Given the description of an element on the screen output the (x, y) to click on. 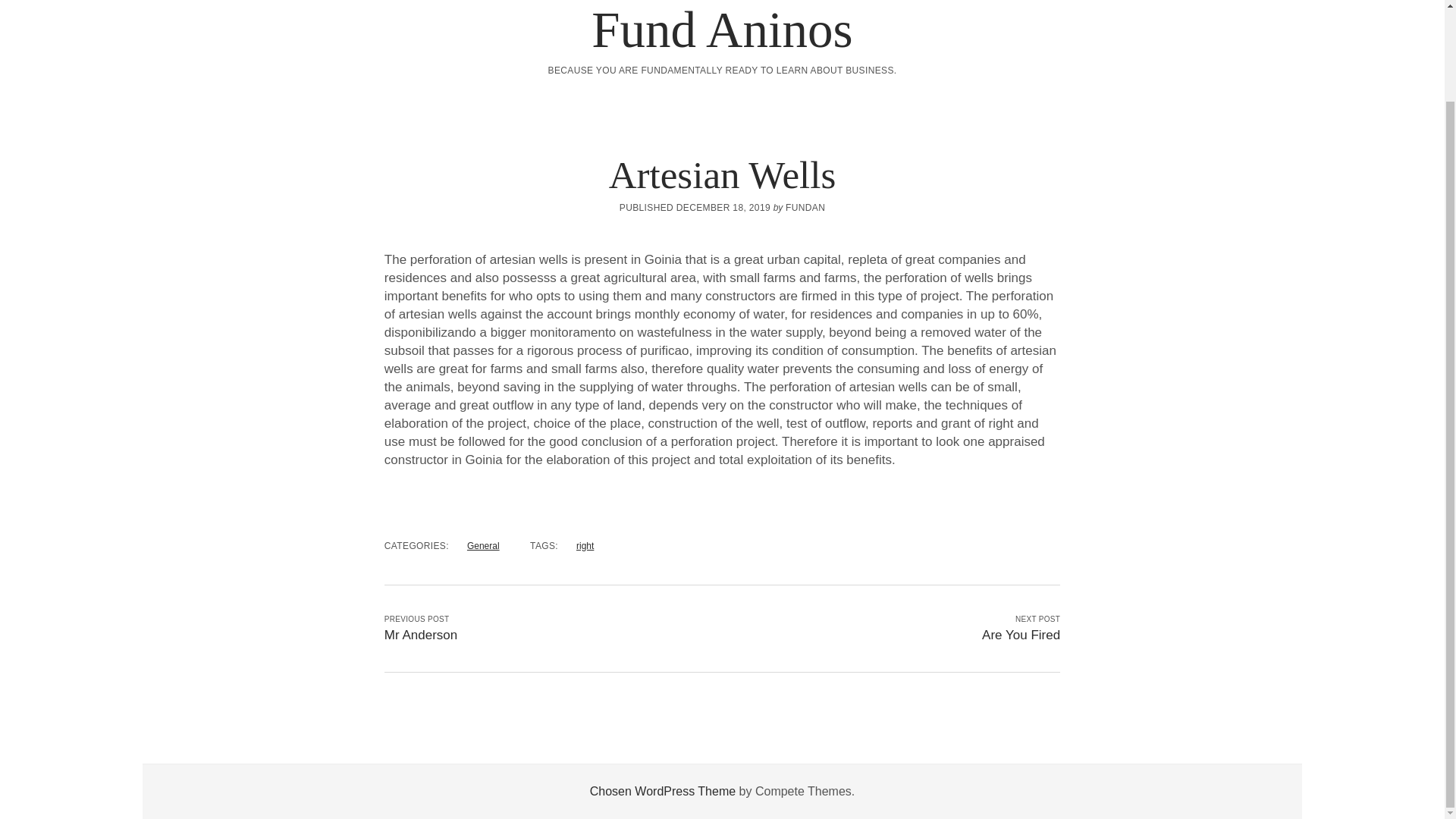
Are You Fired (1020, 635)
Mr Anderson (420, 635)
View all posts in General (483, 545)
Fund Aninos (721, 29)
General (483, 545)
Chosen WordPress Theme (662, 790)
View all posts tagged right (585, 545)
right (585, 545)
